Given the description of an element on the screen output the (x, y) to click on. 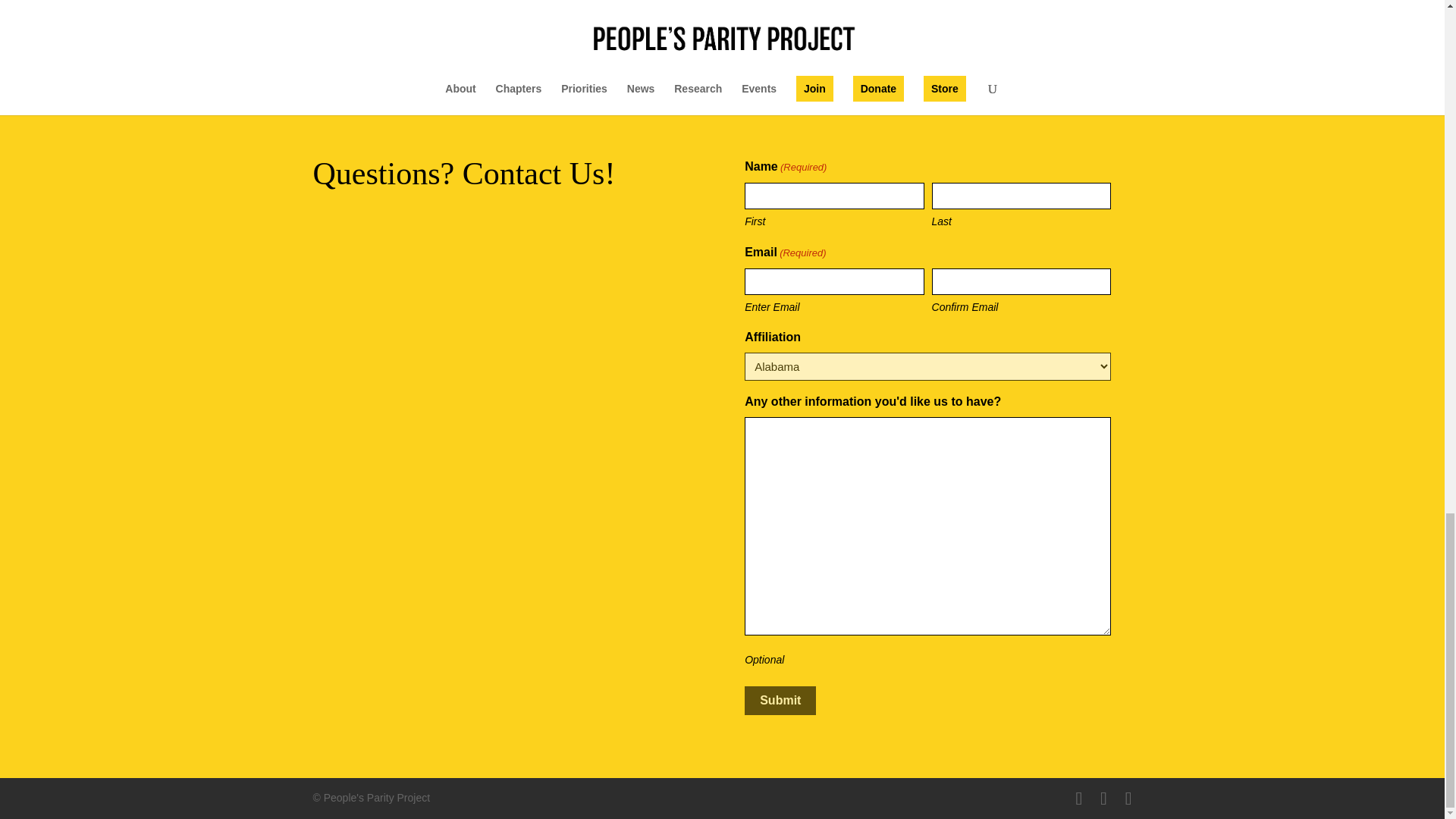
Submit (779, 700)
Submit (779, 700)
